Given the description of an element on the screen output the (x, y) to click on. 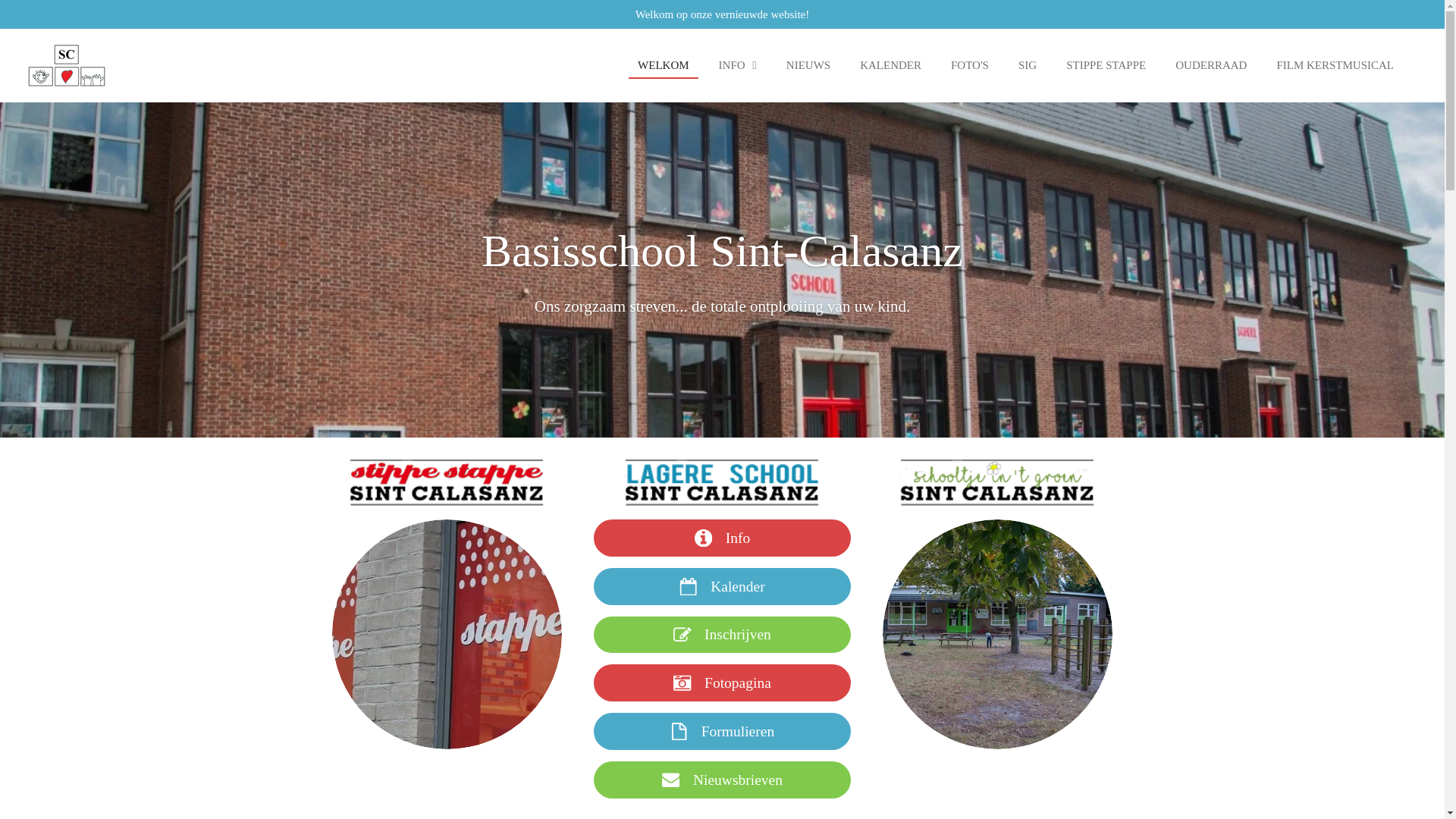
Inschrijven Element type: text (721, 634)
INFO Element type: text (737, 65)
Info Element type: text (721, 537)
OUDERRAAD Element type: text (1210, 65)
STIPPE STAPPE Element type: text (1105, 65)
Nieuwsbrieven Element type: text (721, 779)
Formulieren Element type: text (721, 730)
Kalender Element type: text (721, 586)
KALENDER Element type: text (890, 65)
WELKOM Element type: text (663, 65)
SIG Element type: text (1027, 65)
FOTO'S Element type: text (969, 65)
Fotopagina Element type: text (721, 682)
FILM KERSTMUSICAL Element type: text (1334, 65)
NIEUWS Element type: text (808, 65)
Basisschool Sint Calasanz Element type: hover (67, 65)
